Given the description of an element on the screen output the (x, y) to click on. 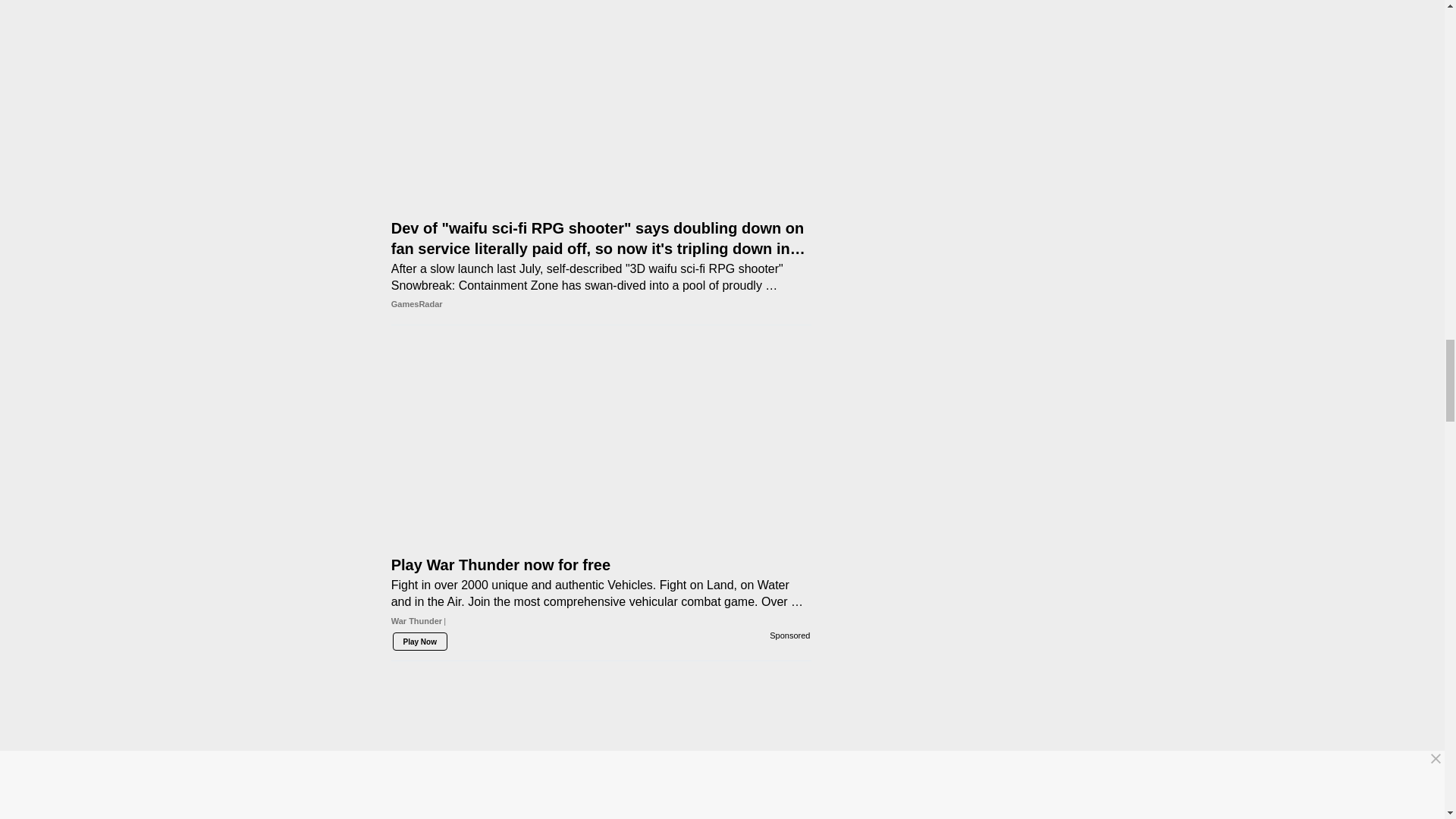
Play War Thunder now for free (600, 568)
Play War Thunder now for free (600, 417)
